Given the description of an element on the screen output the (x, y) to click on. 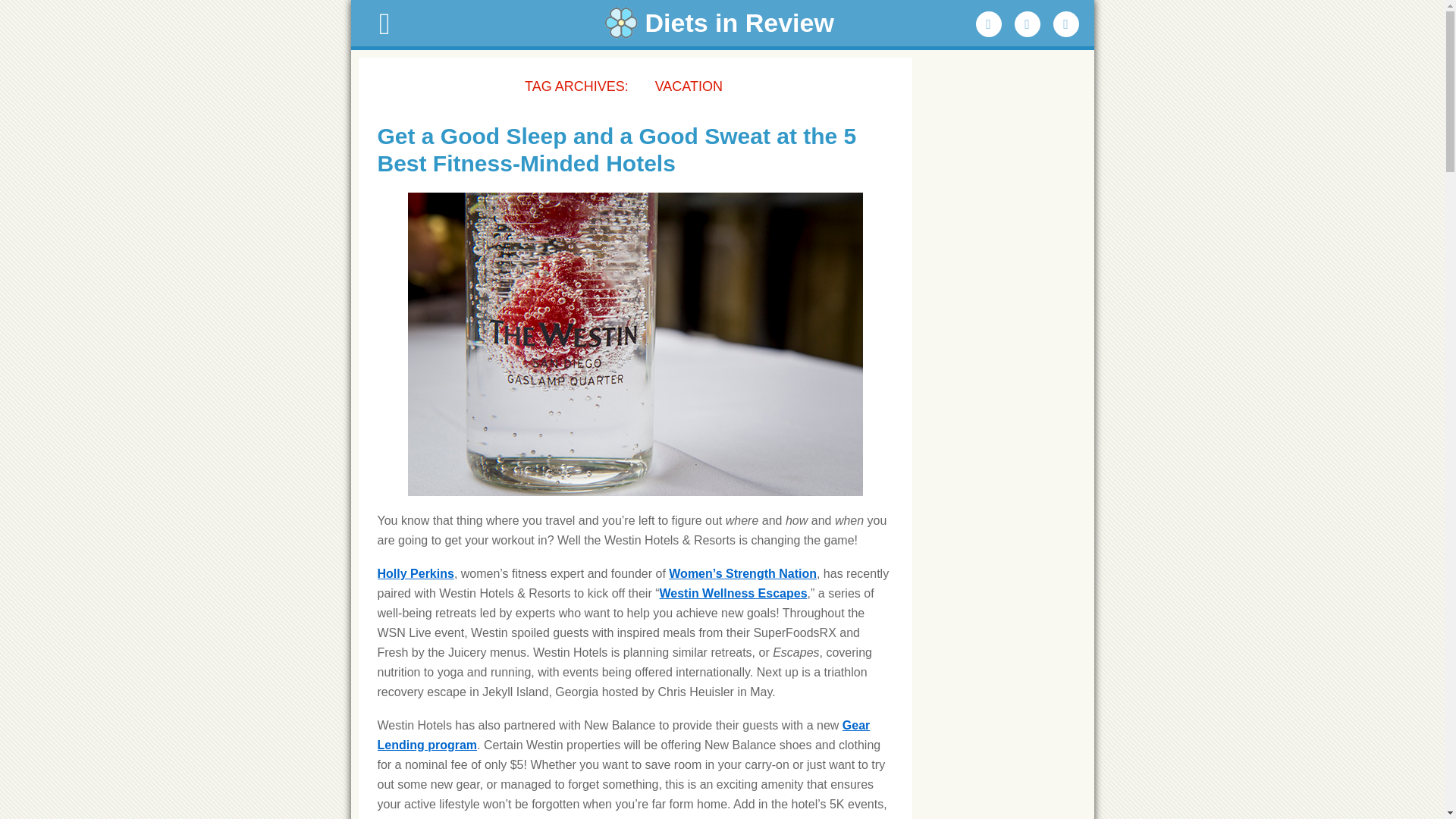
Holly Perkins (415, 573)
Add to Twitter (1027, 23)
Diets in Review Blog (722, 22)
We Love Fitness360 With Holly Perkins (415, 573)
Diets in Review (722, 22)
Westin Wellness Escapes (733, 593)
Share with Facebook (988, 23)
